Given the description of an element on the screen output the (x, y) to click on. 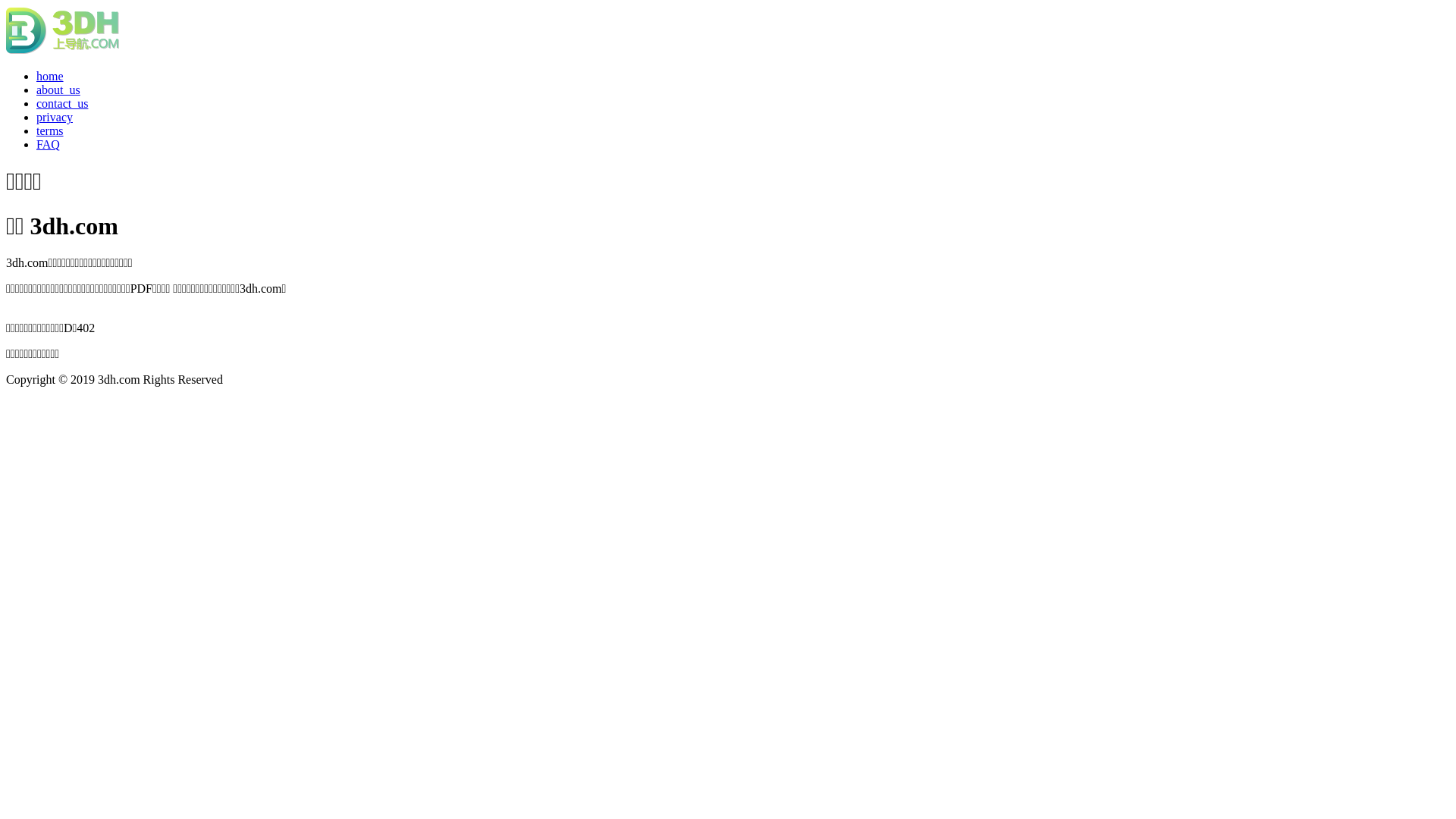
about_us Element type: text (58, 89)
privacy Element type: text (54, 116)
home Element type: text (49, 75)
terms Element type: text (49, 130)
contact_us Element type: text (61, 103)
FAQ Element type: text (47, 144)
